Given the description of an element on the screen output the (x, y) to click on. 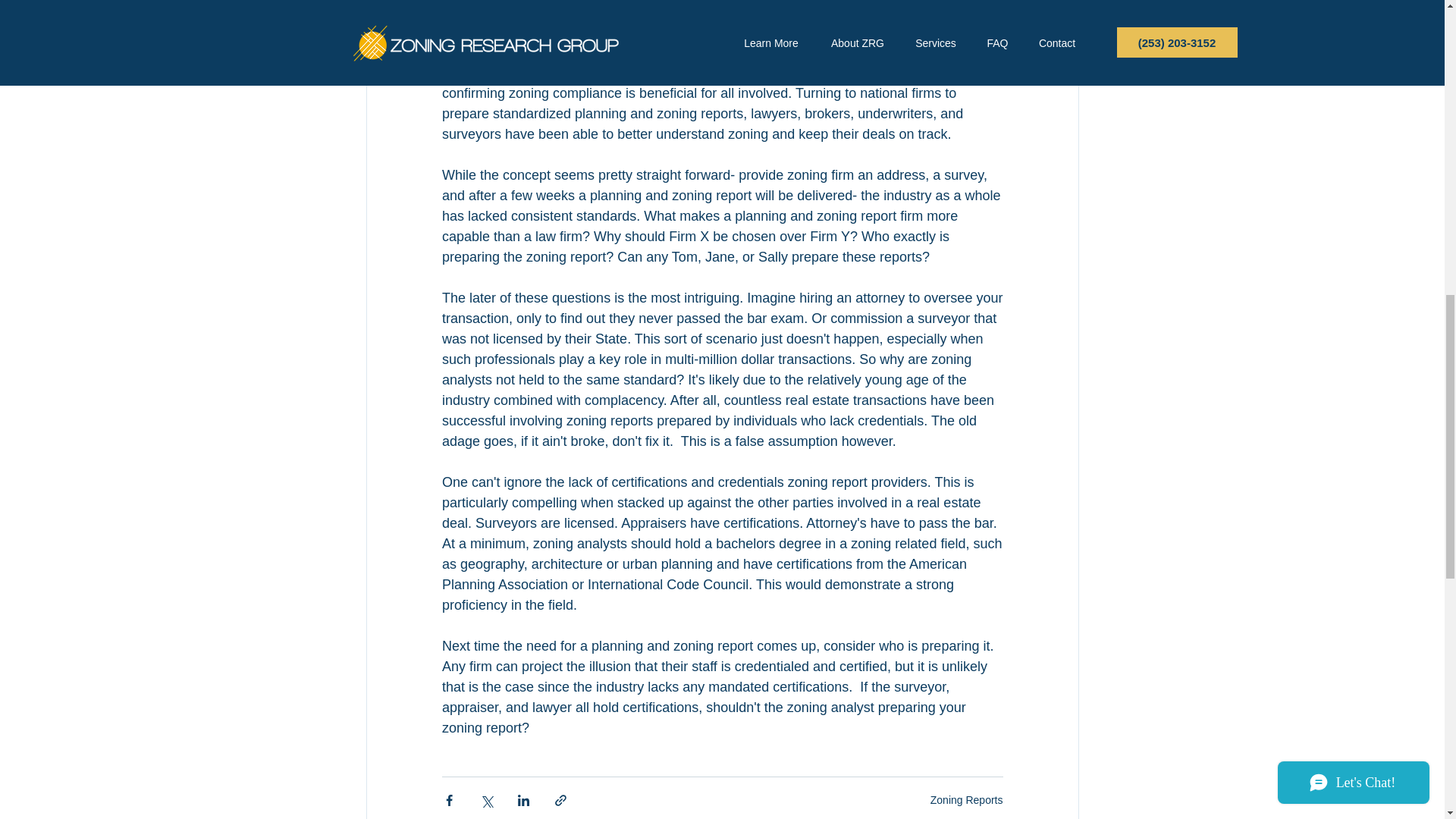
Zoning Reports (966, 799)
